Given the description of an element on the screen output the (x, y) to click on. 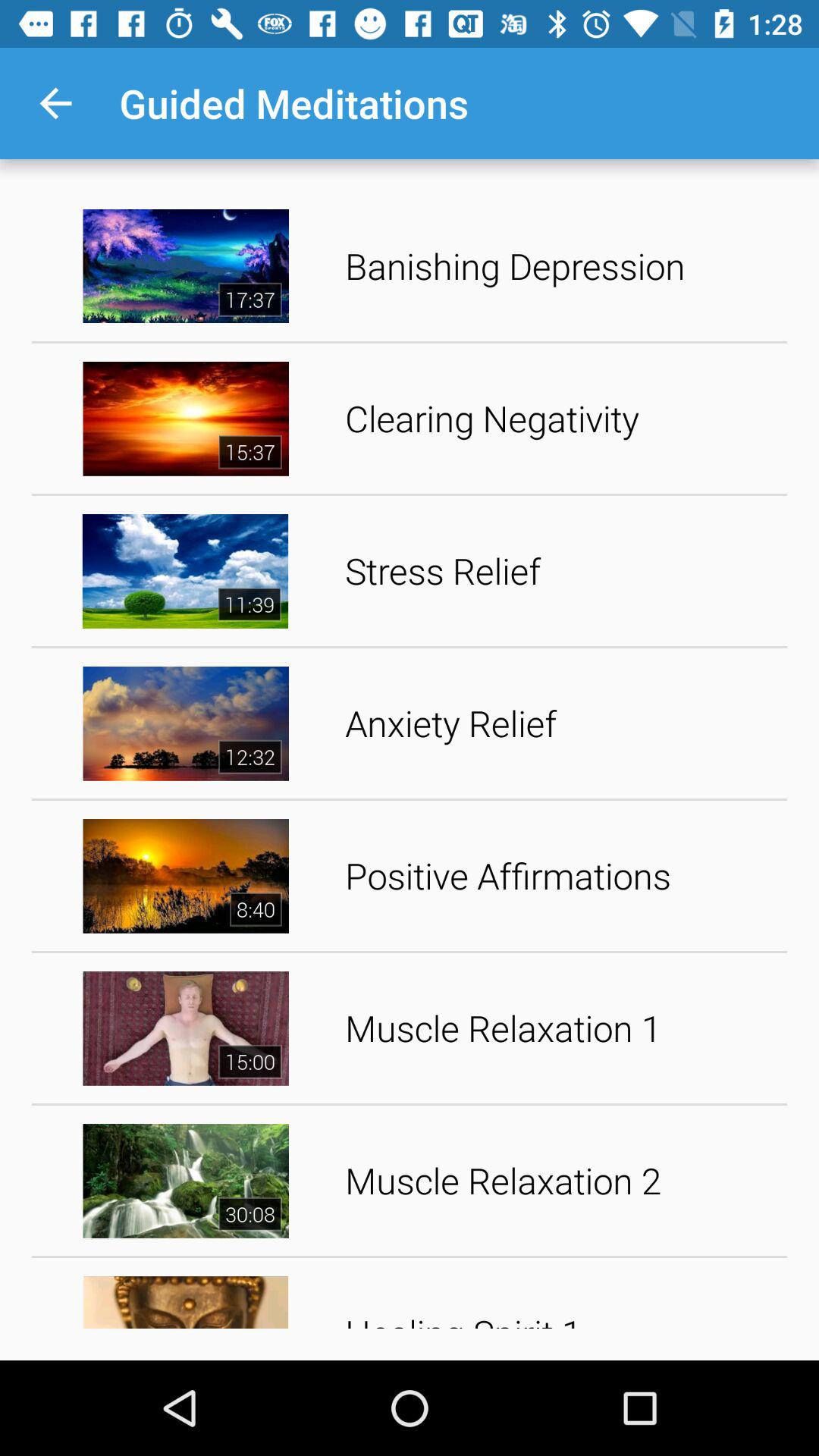
click on second option image (185, 418)
select the image left to the stress relief text (185, 571)
select the image left to the positive affirmations (185, 875)
